Given the description of an element on the screen output the (x, y) to click on. 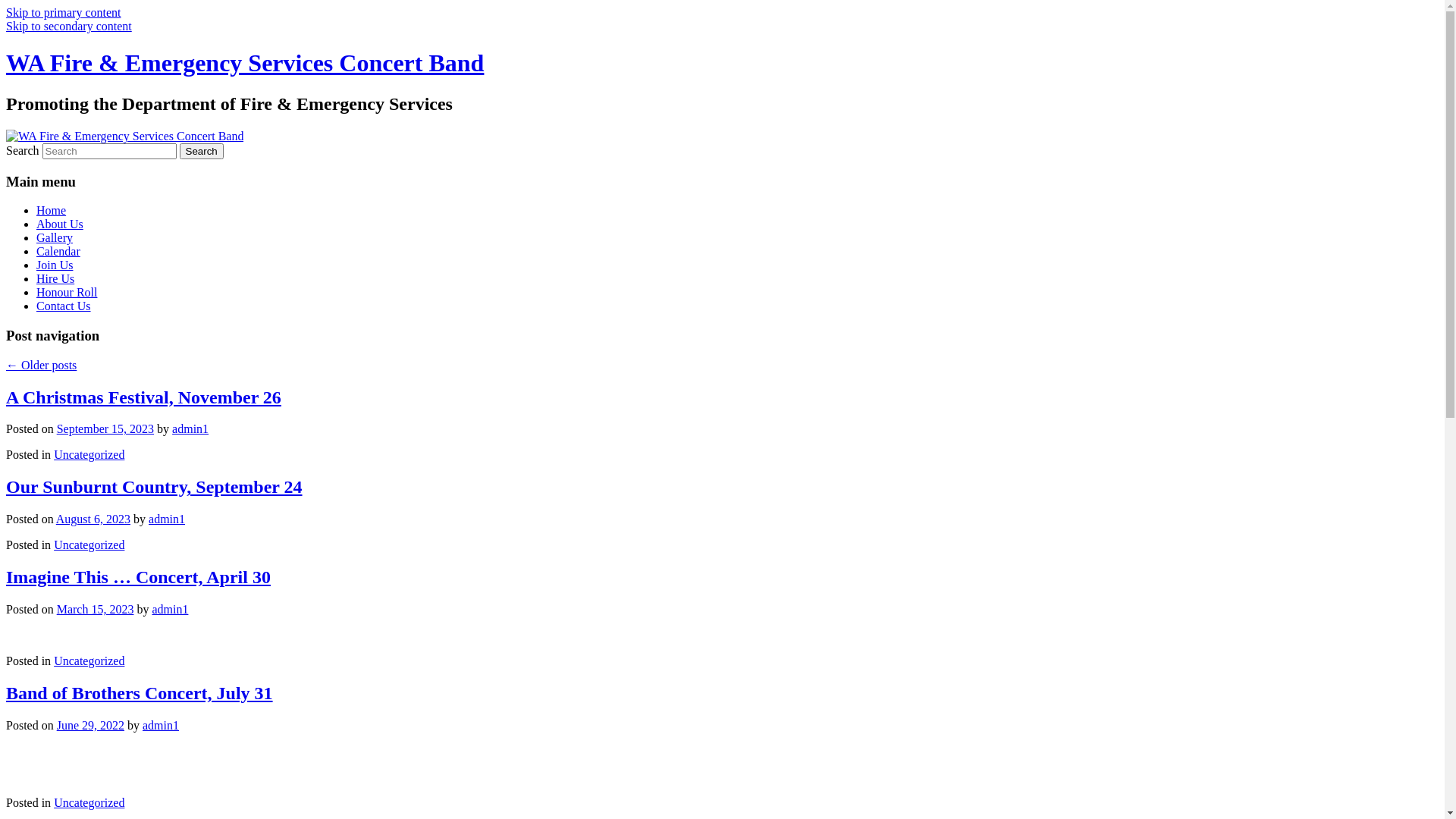
Band of Brothers Concert, July 31 Element type: text (139, 692)
Honour Roll Element type: text (66, 291)
Calendar Element type: text (58, 250)
Uncategorized Element type: text (88, 802)
admin1 Element type: text (190, 428)
June 29, 2022 Element type: text (90, 724)
admin1 Element type: text (169, 608)
admin1 Element type: text (166, 518)
admin1 Element type: text (160, 724)
August 6, 2023 Element type: text (93, 518)
Skip to secondary content Element type: text (68, 25)
Our Sunburnt Country, September 24 Element type: text (154, 486)
September 15, 2023 Element type: text (104, 428)
About Us Element type: text (59, 223)
Uncategorized Element type: text (88, 544)
Gallery Element type: text (54, 237)
Uncategorized Element type: text (88, 454)
Contact Us Element type: text (63, 305)
Home Element type: text (50, 209)
March 15, 2023 Element type: text (95, 608)
A Christmas Festival, November 26 Element type: text (143, 397)
WA Fire & Emergency Services Concert Band Element type: text (244, 62)
Hire Us Element type: text (55, 278)
Join Us Element type: text (54, 264)
Search Element type: text (201, 151)
Uncategorized Element type: text (88, 660)
Skip to primary content Element type: text (63, 12)
